Given the description of an element on the screen output the (x, y) to click on. 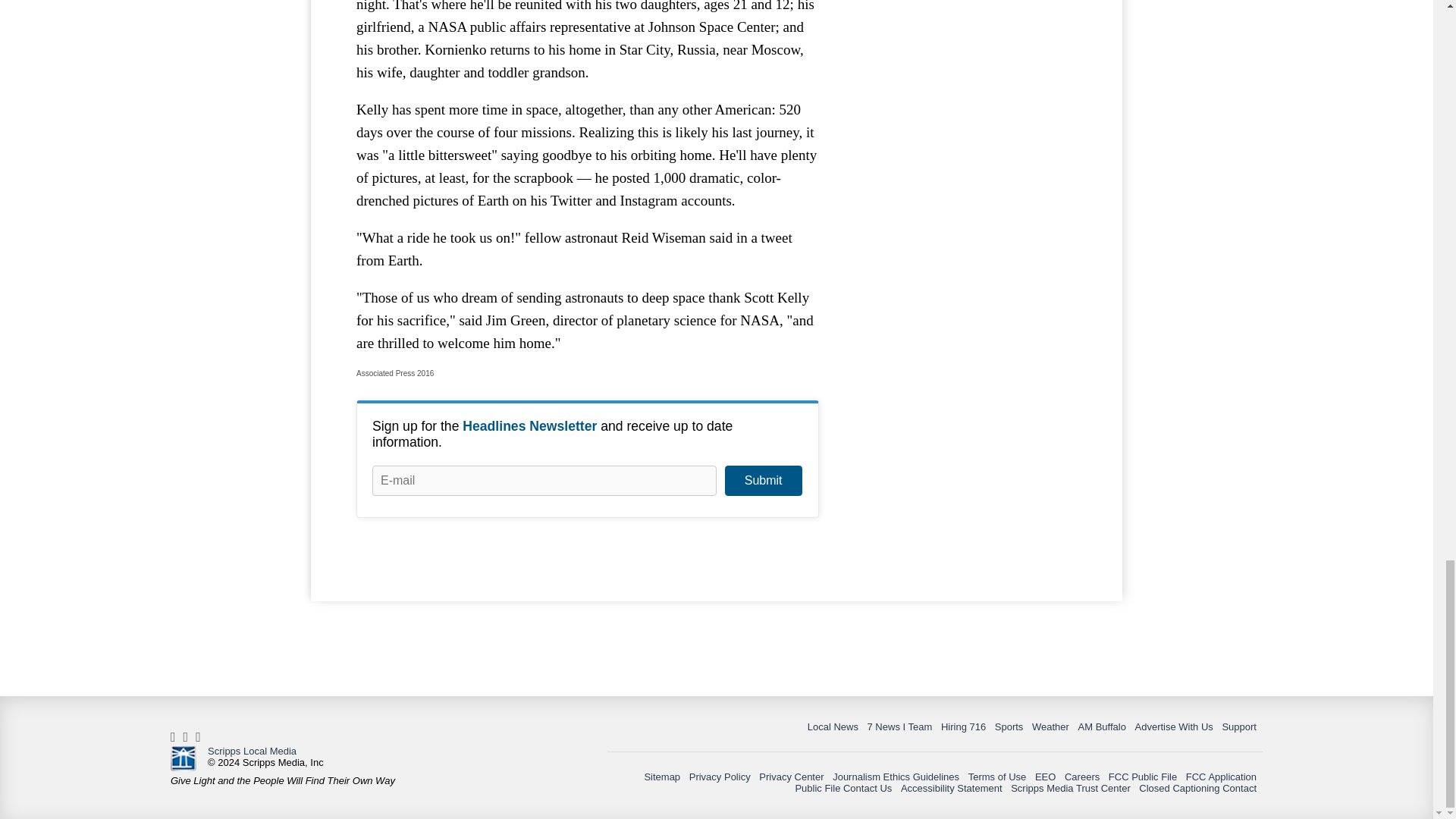
Submit (763, 481)
